Given the description of an element on the screen output the (x, y) to click on. 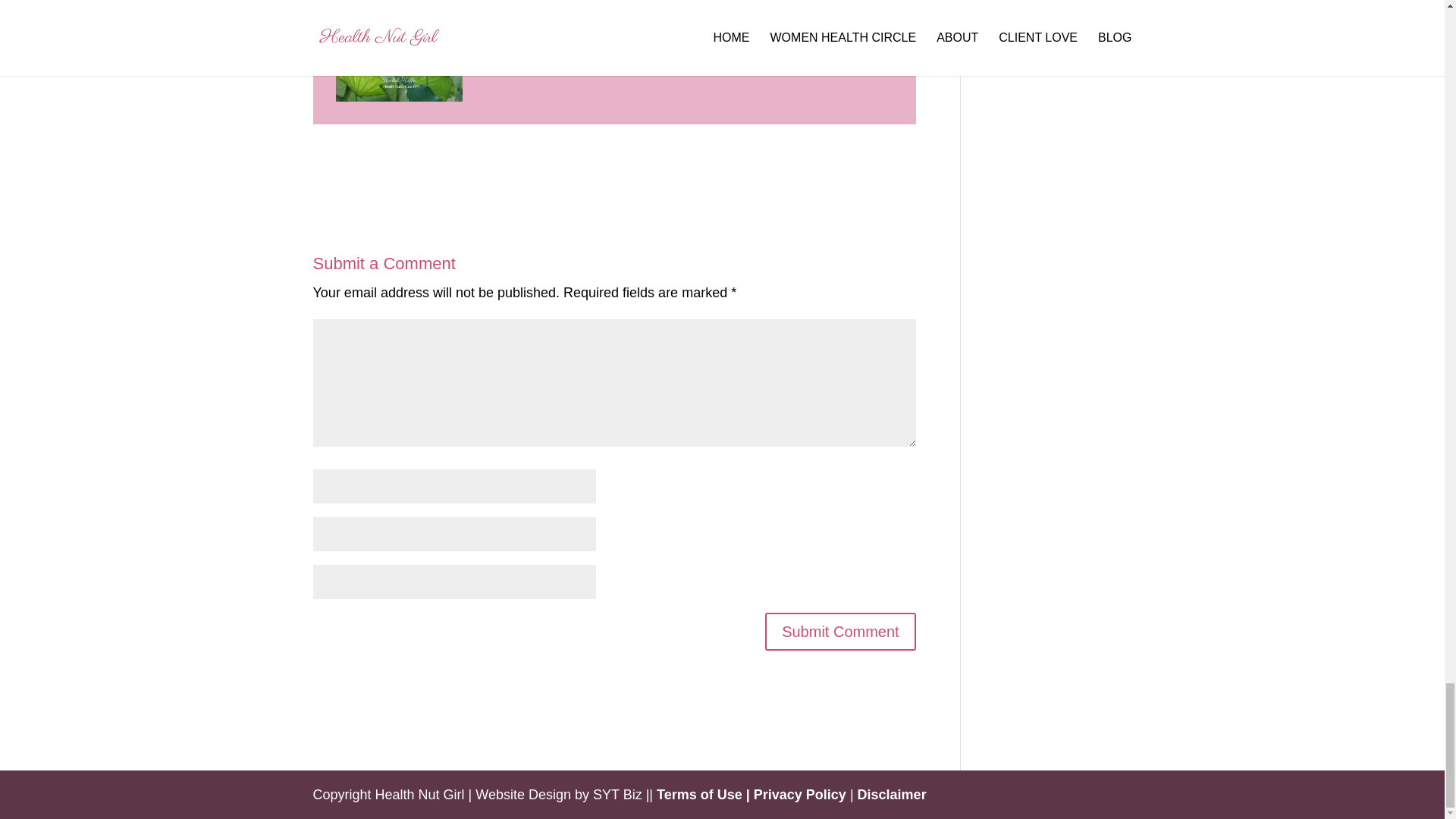
Submit Comment (840, 630)
Sign Me Up! (812, 42)
Submit Comment (840, 630)
